Given the description of an element on the screen output the (x, y) to click on. 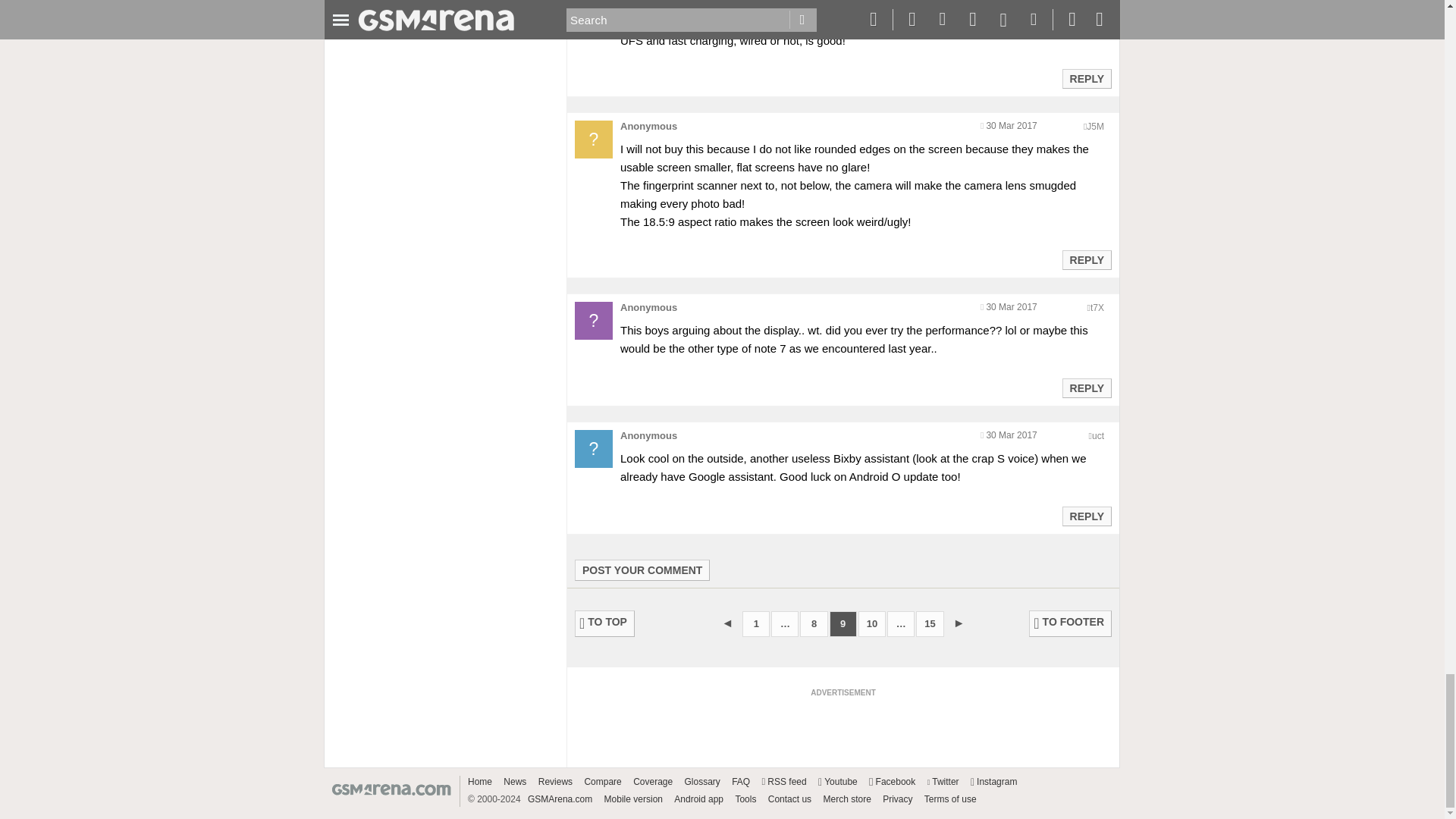
TO TOP (604, 623)
